Given the description of an element on the screen output the (x, y) to click on. 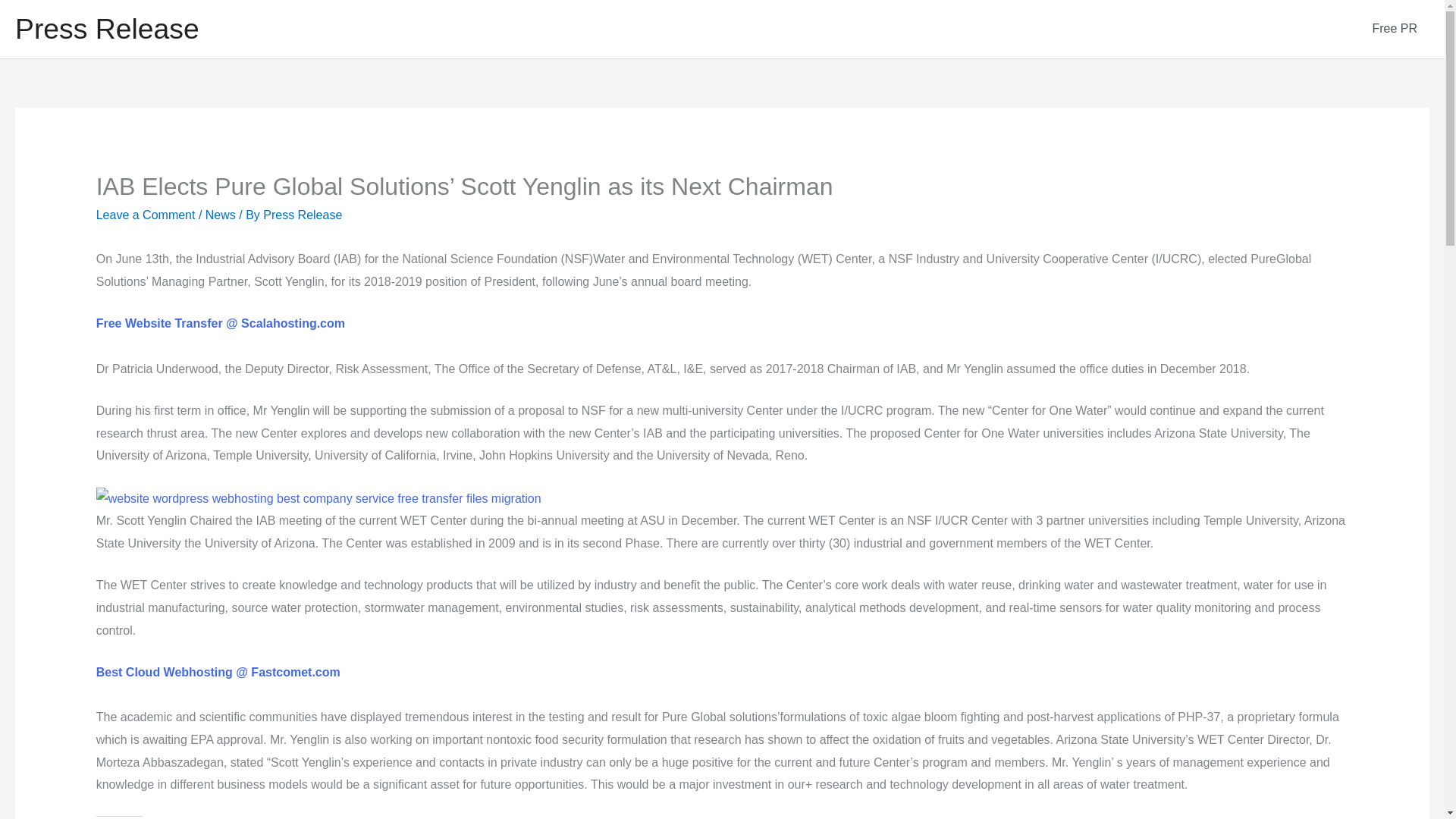
Press Release (106, 29)
Leave a Comment (145, 214)
View all posts by Press Release (302, 214)
Press Release (302, 214)
Free PR (1394, 29)
News (220, 214)
